Given the description of an element on the screen output the (x, y) to click on. 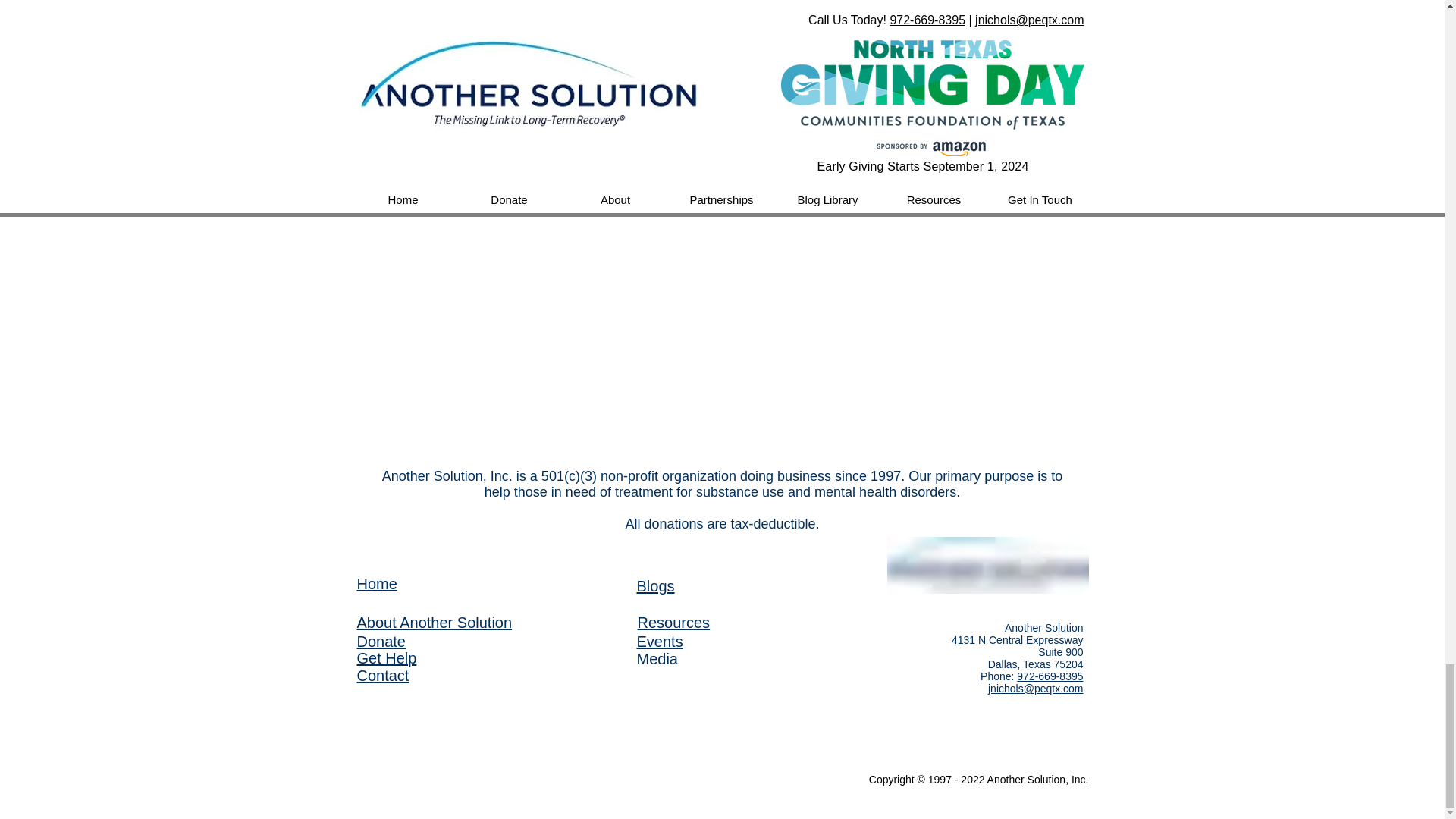
Resources (673, 622)
Home (376, 583)
972-669-8395 (1049, 676)
Events (659, 641)
Get Help (386, 658)
Contact (382, 675)
Blogs (656, 586)
About Another Solution (434, 622)
Donate (381, 641)
